Given the description of an element on the screen output the (x, y) to click on. 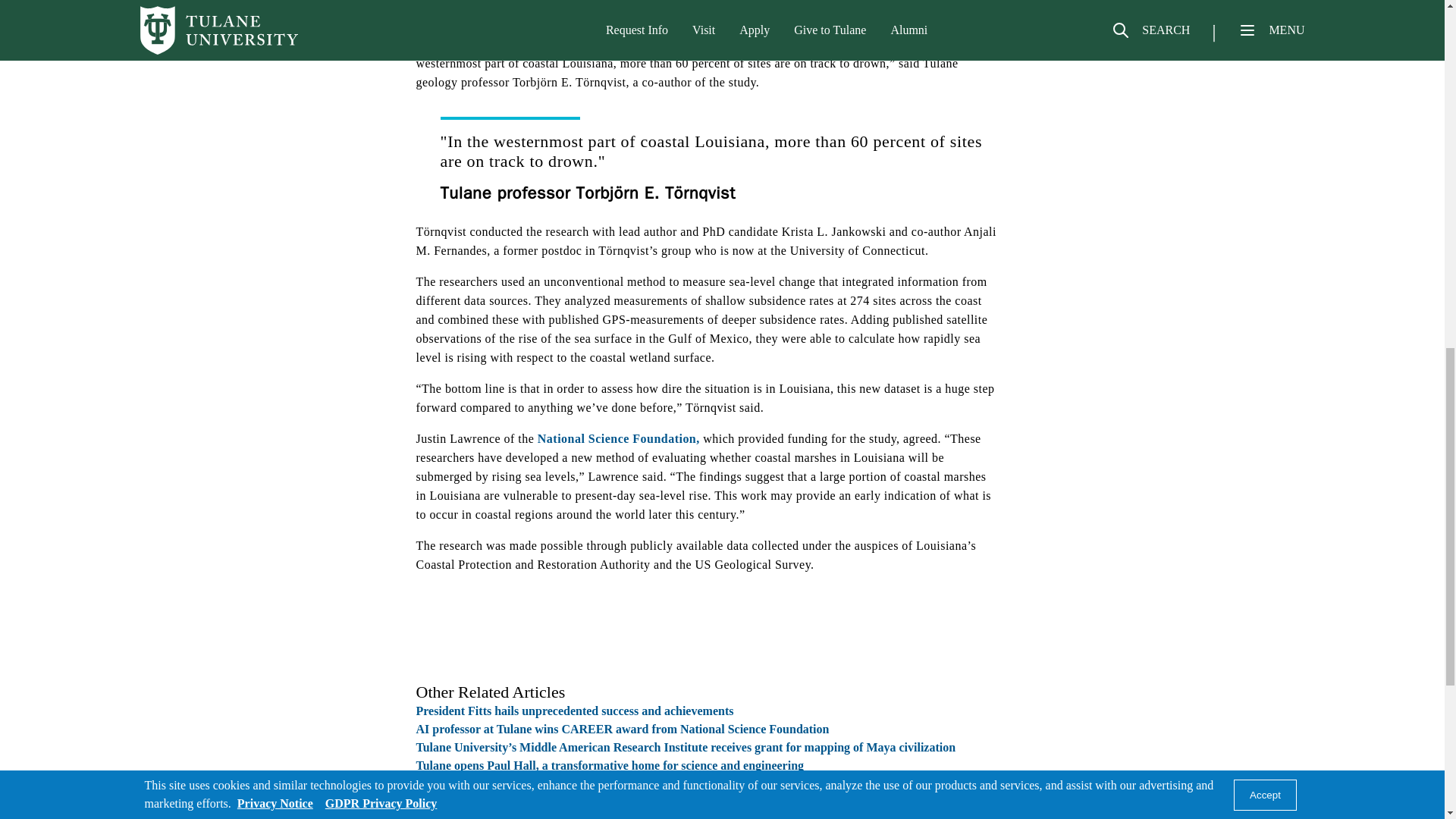
President Fitts hails unprecedented success and achievements (573, 710)
National Science Foundation, (618, 438)
